Given the description of an element on the screen output the (x, y) to click on. 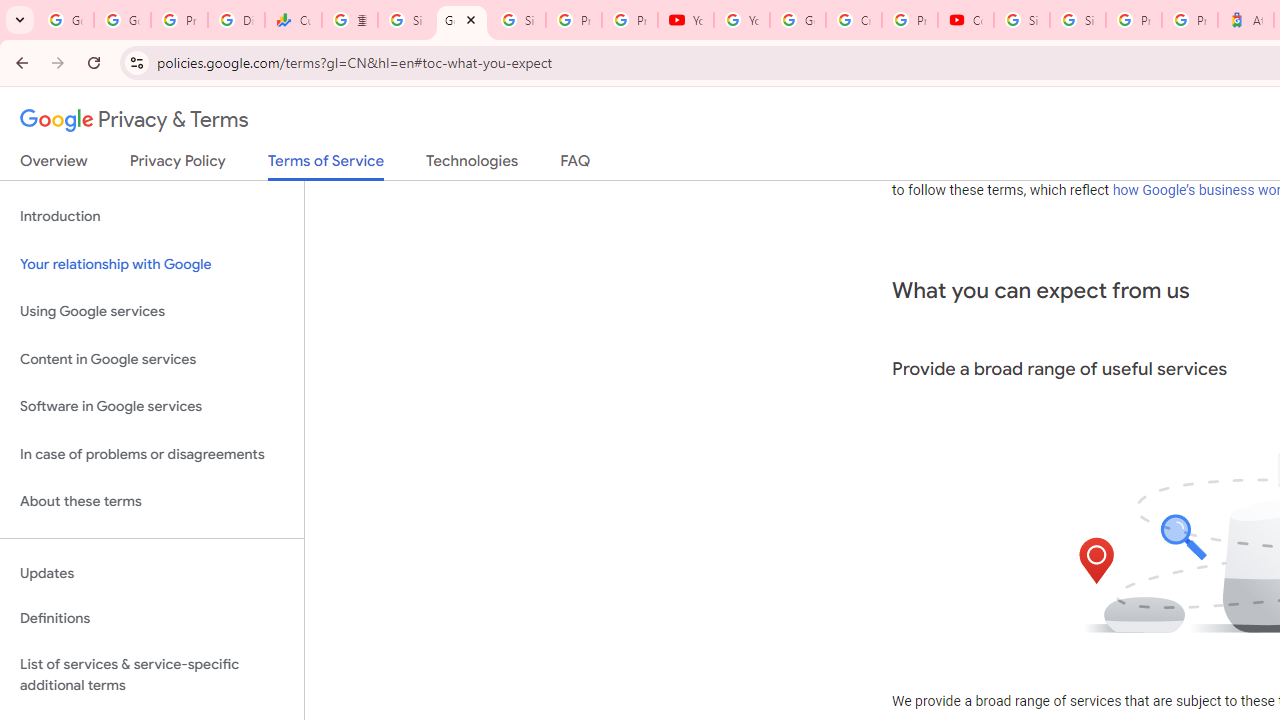
Overview (54, 165)
Google Workspace Admin Community (65, 20)
Content Creator Programs & Opportunities - YouTube Creators (966, 20)
affiliates (1076, 165)
Close (470, 19)
Software in Google services (152, 407)
Back (19, 62)
Privacy & Terms (134, 120)
Sign in - Google Accounts (518, 20)
Sign in - Google Accounts (1021, 20)
Definitions (152, 619)
Using Google services (152, 312)
